Given the description of an element on the screen output the (x, y) to click on. 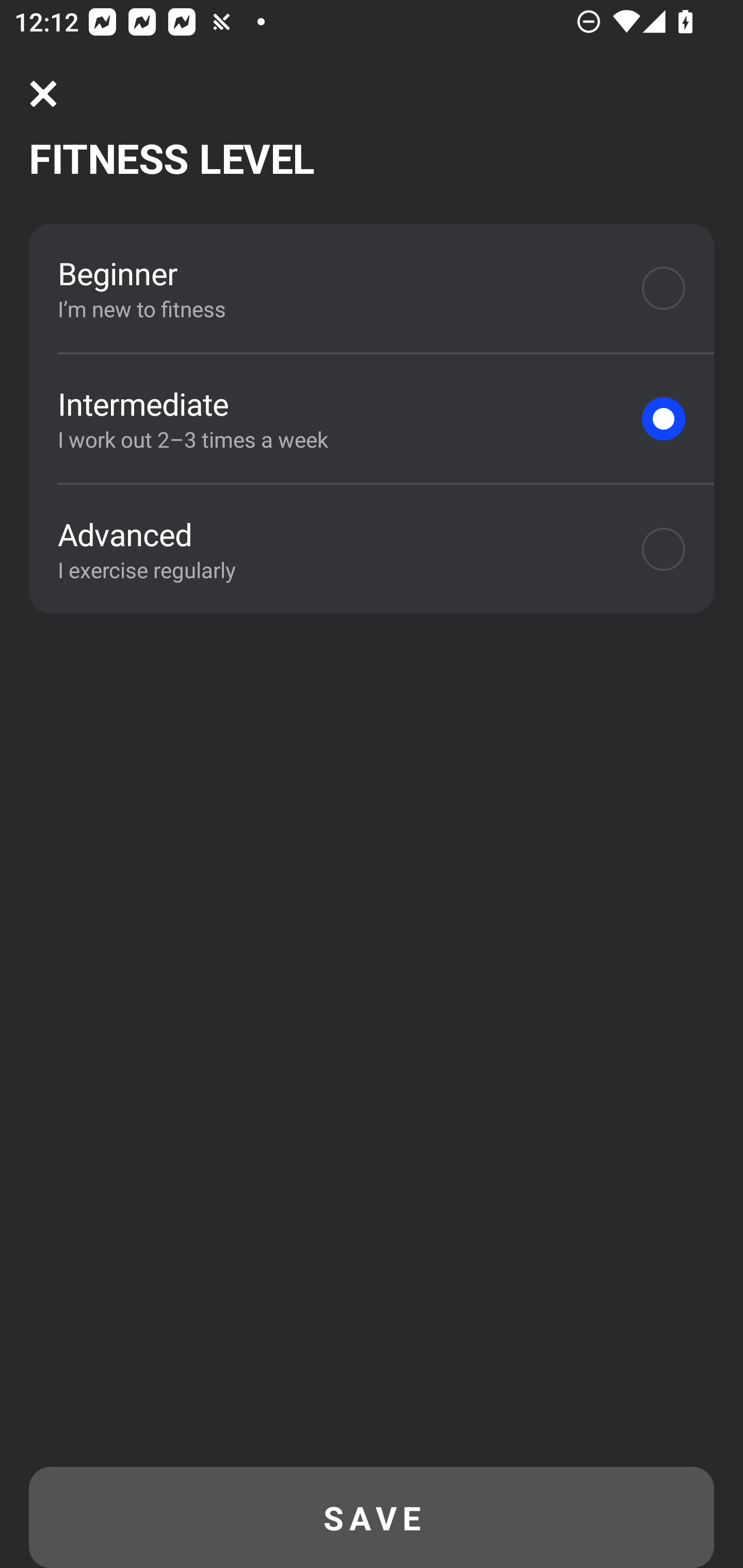
Navigation icon (43, 93)
SAVE (371, 1517)
